Given the description of an element on the screen output the (x, y) to click on. 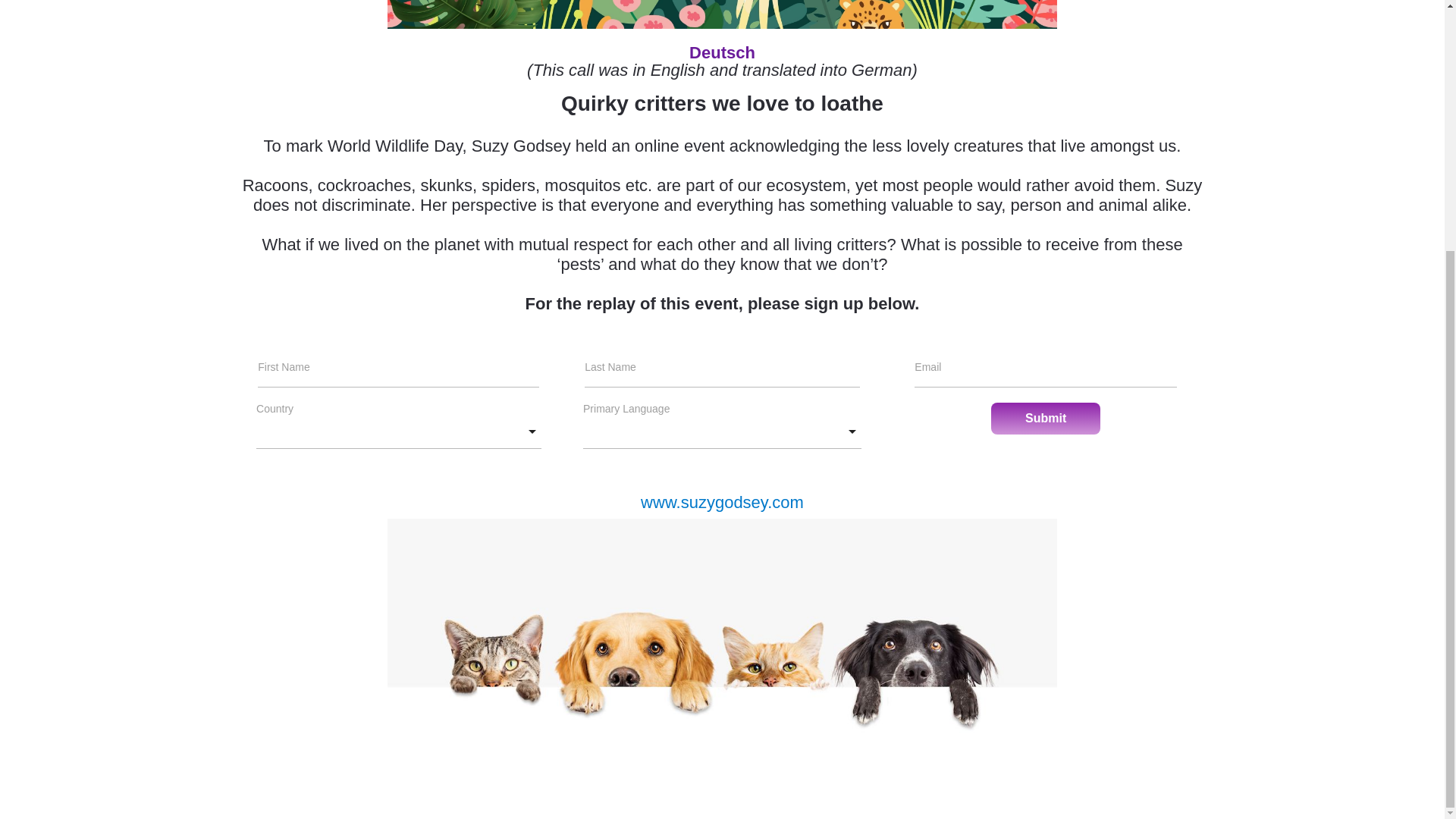
www.suzygodsey.com (721, 502)
Deutsch (721, 52)
Submit (1045, 418)
